Given the description of an element on the screen output the (x, y) to click on. 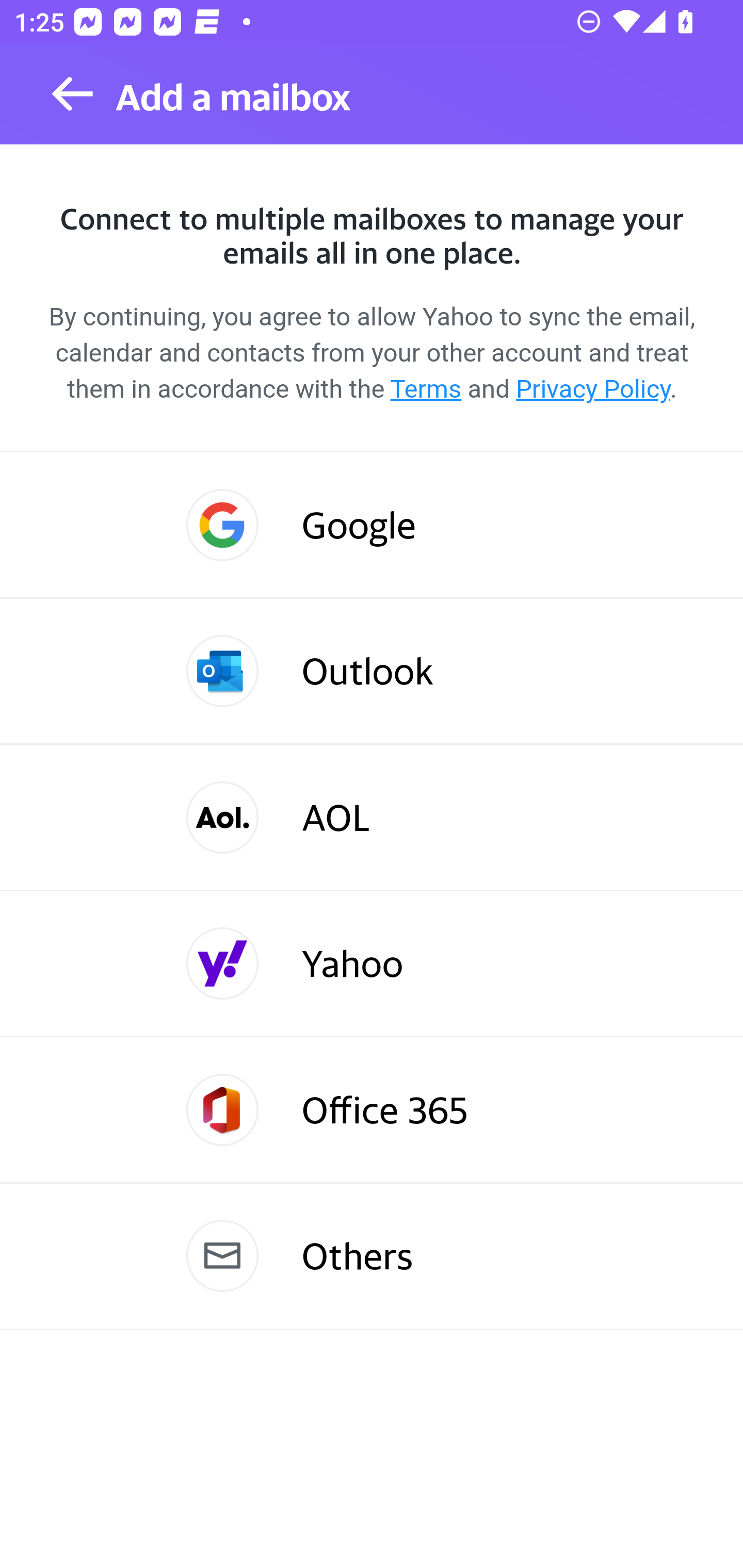
Back (71, 93)
Terms (426, 388)
Privacy Policy (592, 388)
